Given the description of an element on the screen output the (x, y) to click on. 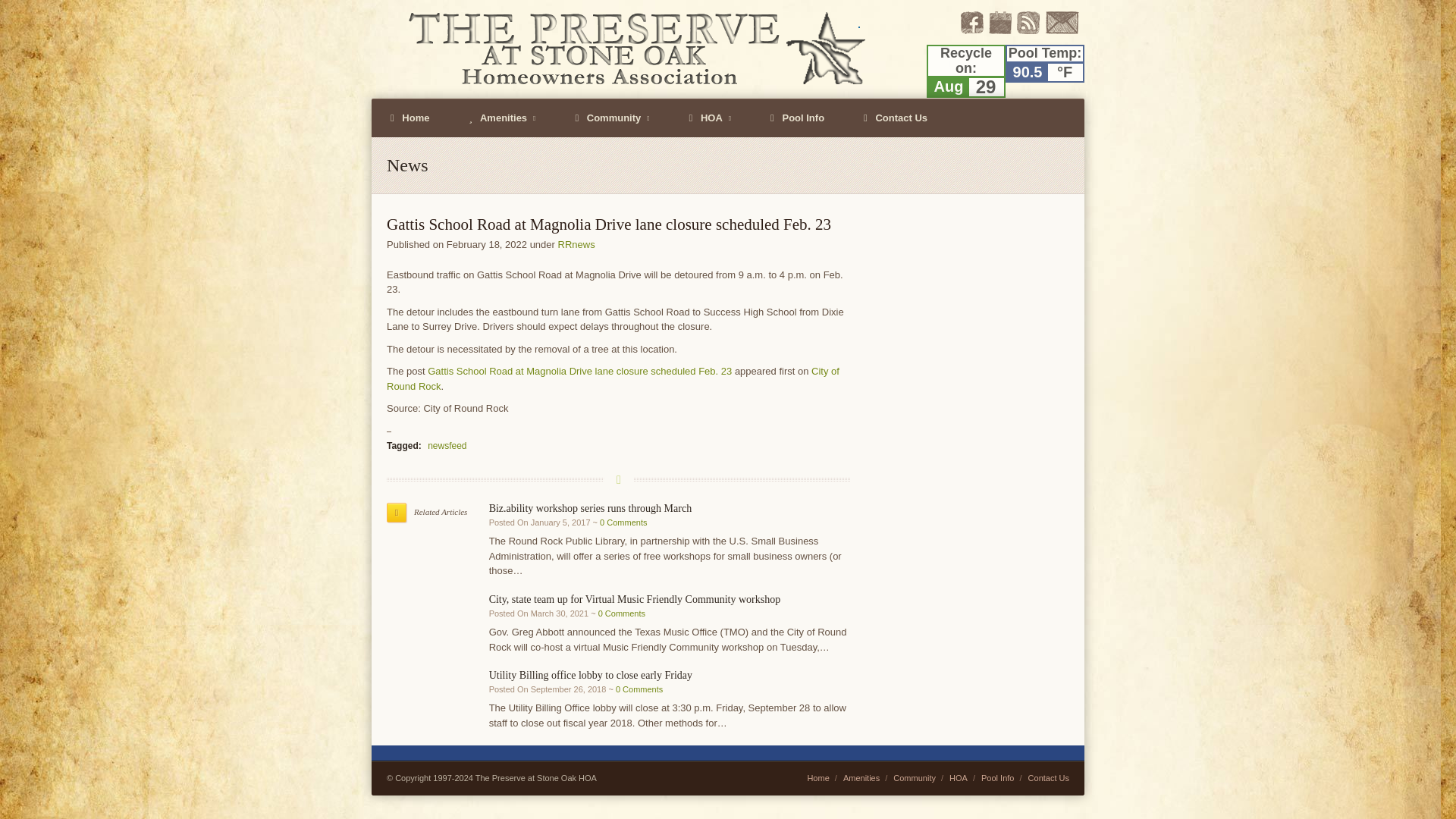
Biz.ability workshop series runs through March (591, 508)
Facebook (972, 30)
Utility Billing office lobby to close early Friday (591, 674)
Contact (1061, 30)
Pool Info (797, 118)
The Preserve at Stone Oak HOA (621, 48)
Community (612, 118)
Home (409, 118)
RRnews (576, 244)
